Given the description of an element on the screen output the (x, y) to click on. 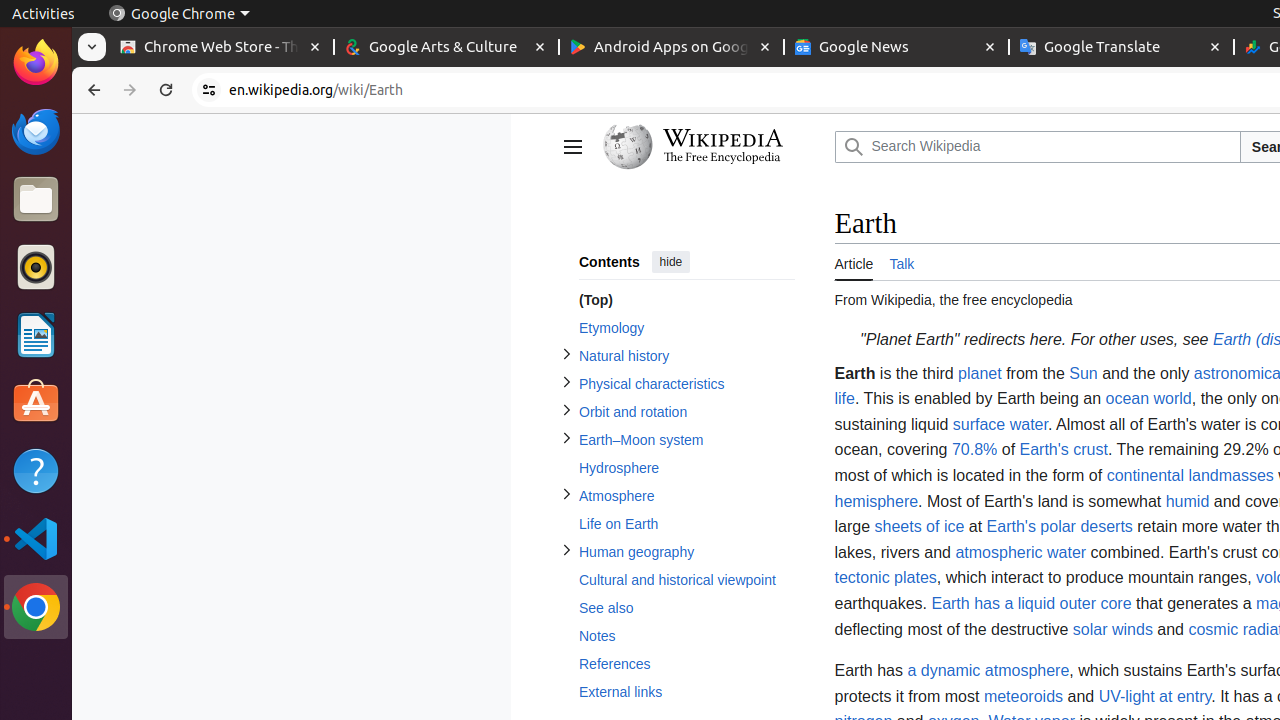
Life on Earth Element type: link (686, 524)
Forward Element type: push-button (130, 90)
Google Chrome Element type: push-button (36, 607)
solar winds Element type: link (1112, 629)
Files Element type: push-button (36, 199)
